Given the description of an element on the screen output the (x, y) to click on. 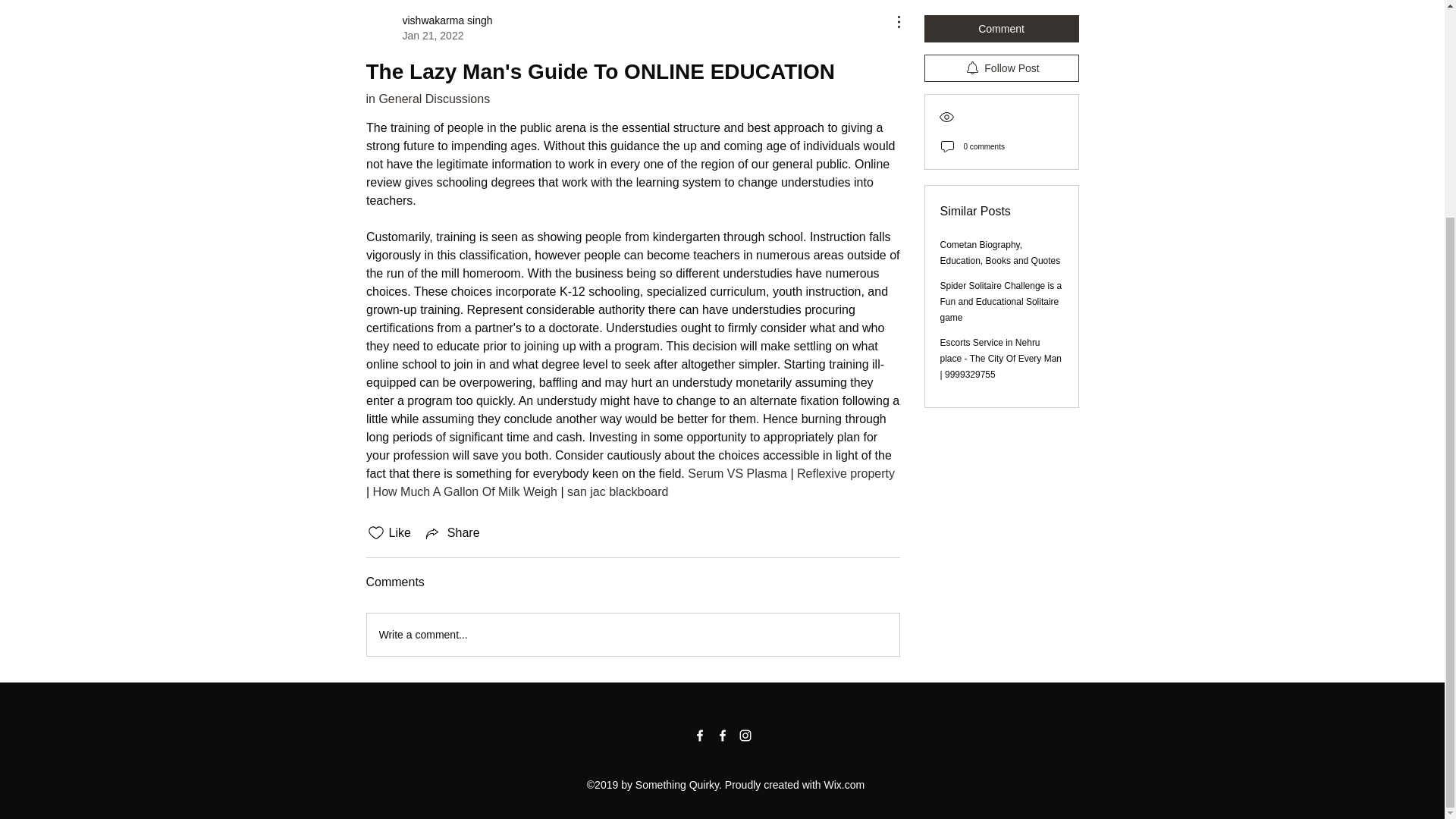
Comment (1000, 26)
Reflexive property (845, 472)
Write a comment... (632, 634)
Share (451, 533)
Serum VS Plasma (737, 472)
How Much A Gallon Of Milk Weigh (428, 28)
san jac blackboard (464, 491)
Cometan Biography, Education, Books and Quotes (617, 491)
